Given the description of an element on the screen output the (x, y) to click on. 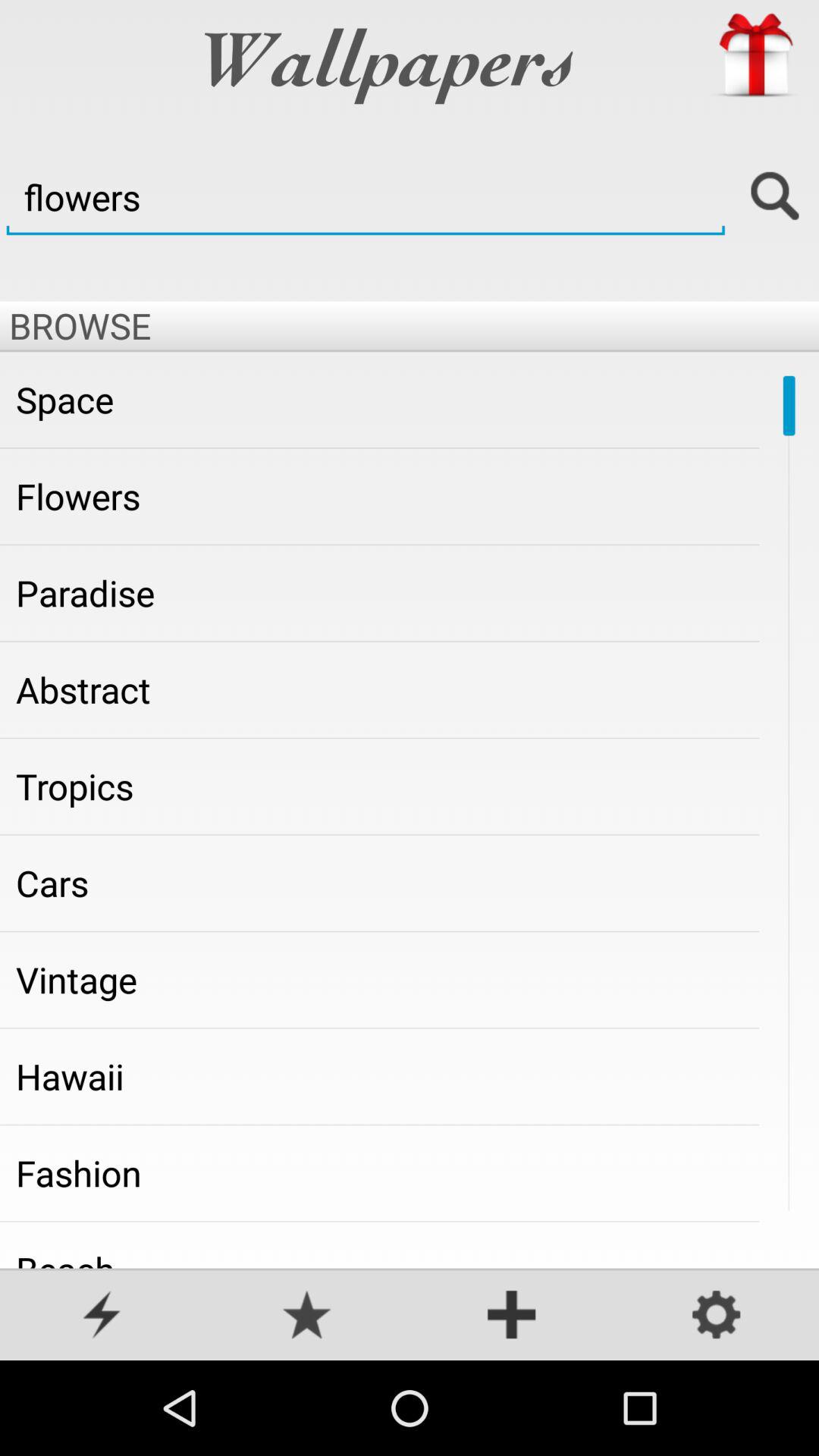
open notifications button (102, 1316)
